Given the description of an element on the screen output the (x, y) to click on. 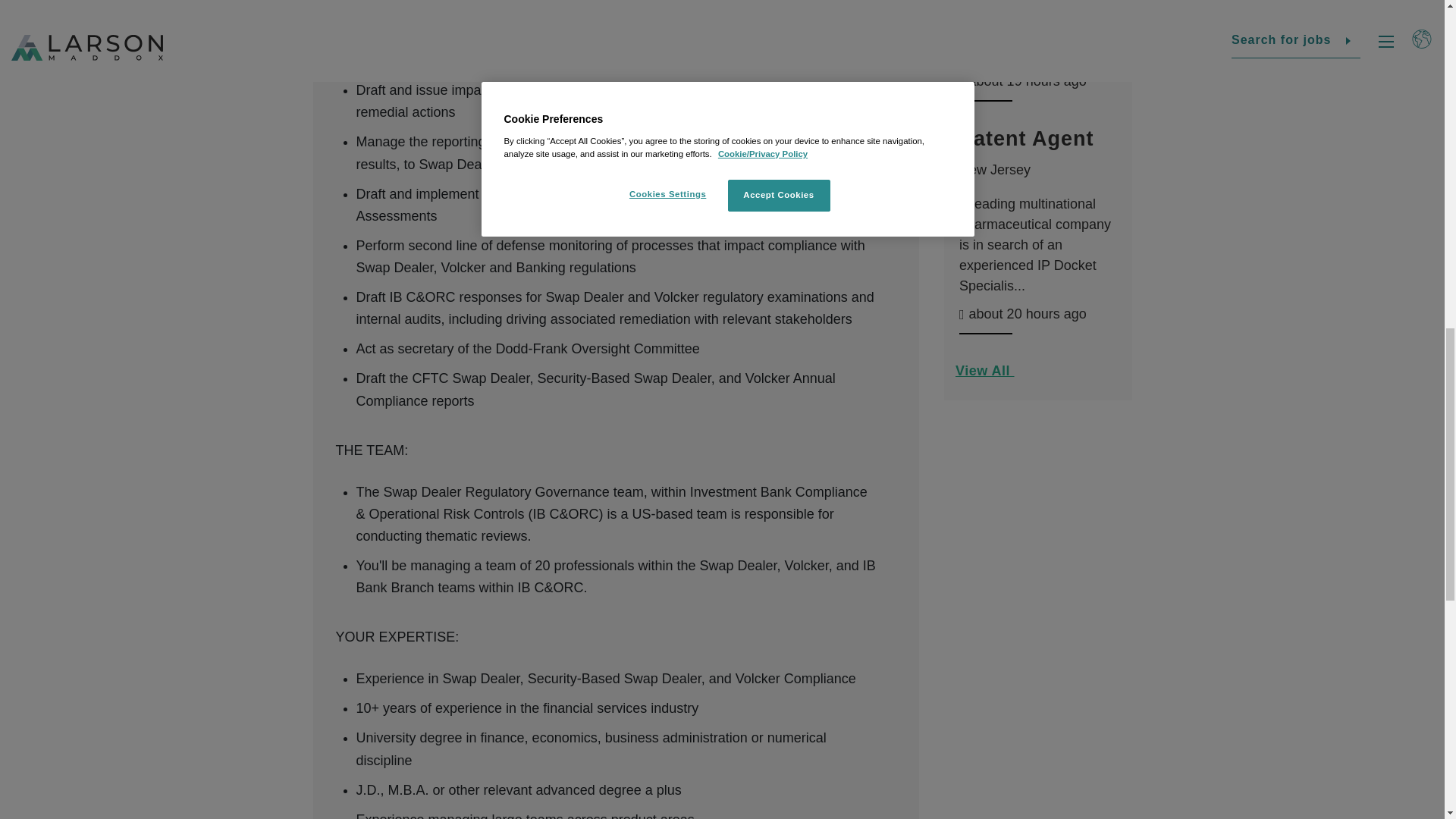
View All (1037, 376)
